Given the description of an element on the screen output the (x, y) to click on. 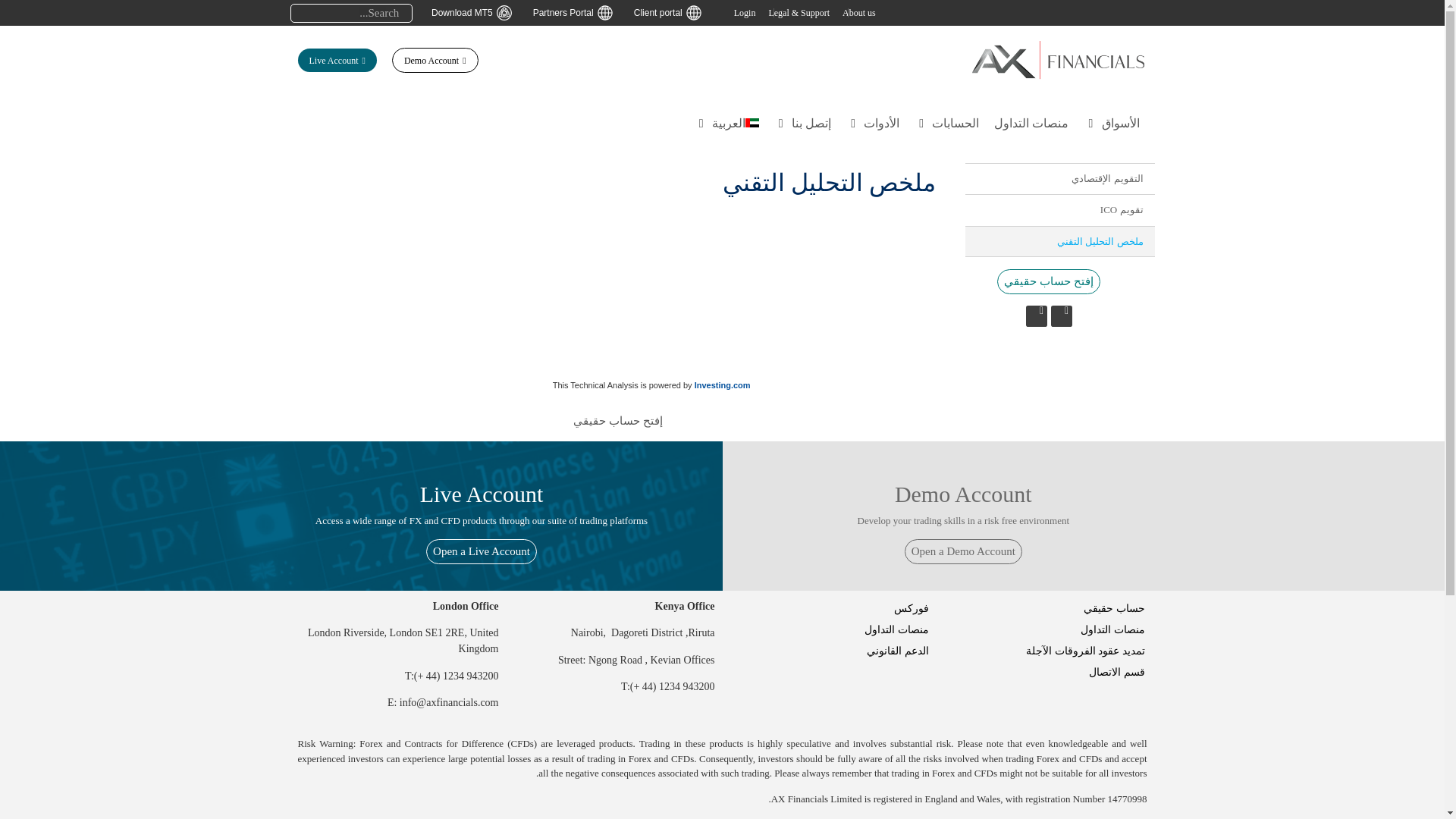
Login (744, 12)
About us (859, 12)
Live Account (336, 60)
Demo Account (435, 59)
Client portal (670, 12)
Download MT5 (474, 12)
Partners Portal (576, 12)
